Given the description of an element on the screen output the (x, y) to click on. 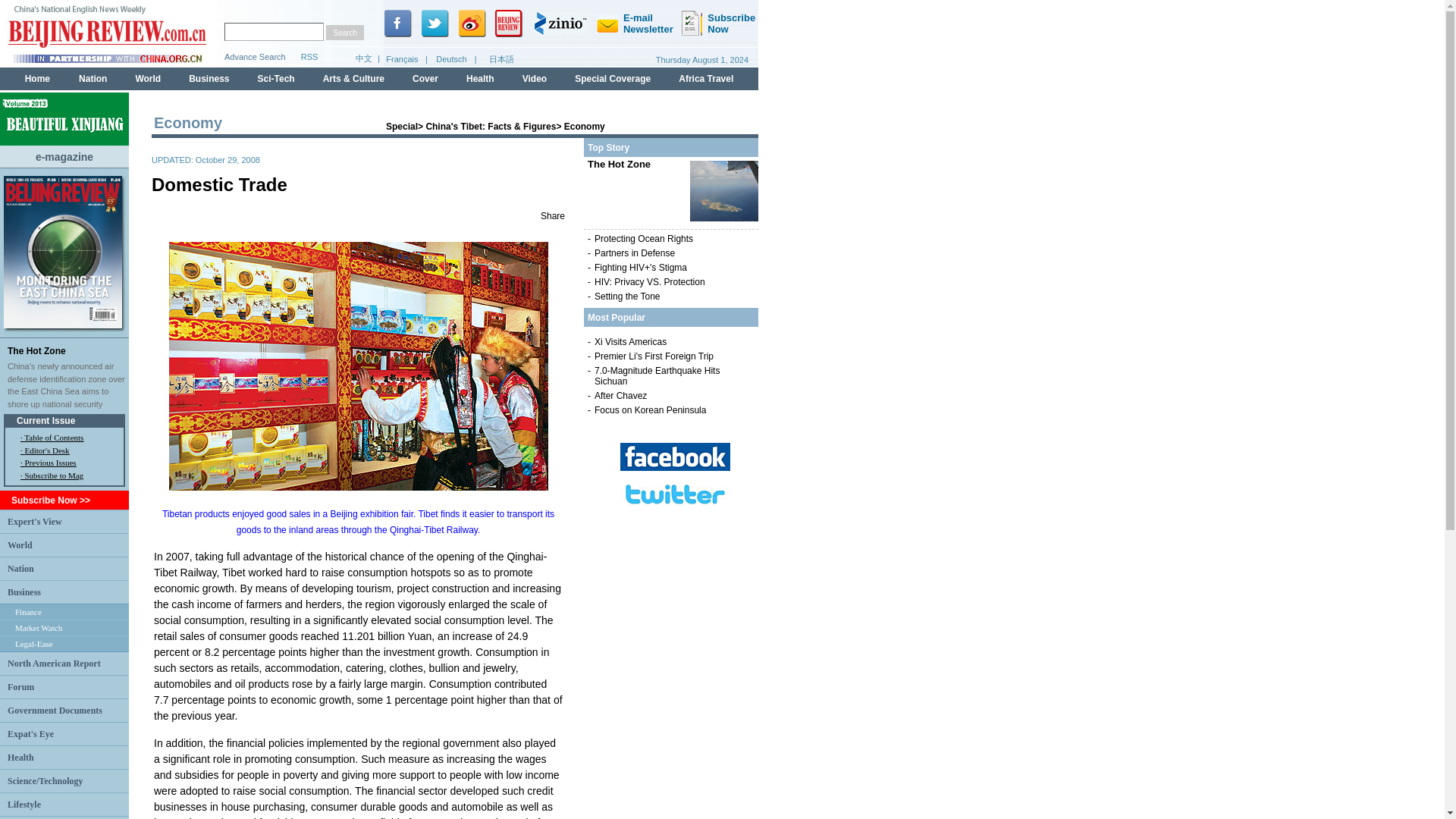
Previous Issues (49, 461)
Business (23, 592)
Market Watch (38, 627)
e-magazine (63, 155)
Table of Contents (53, 437)
Expat's Eye (30, 733)
Finance (28, 611)
Legal-Ease (33, 643)
Editor's Desk (46, 450)
World (19, 544)
Current Issue (45, 420)
Health (20, 757)
Nation (20, 567)
Lifestyle (23, 804)
